Given the description of an element on the screen output the (x, y) to click on. 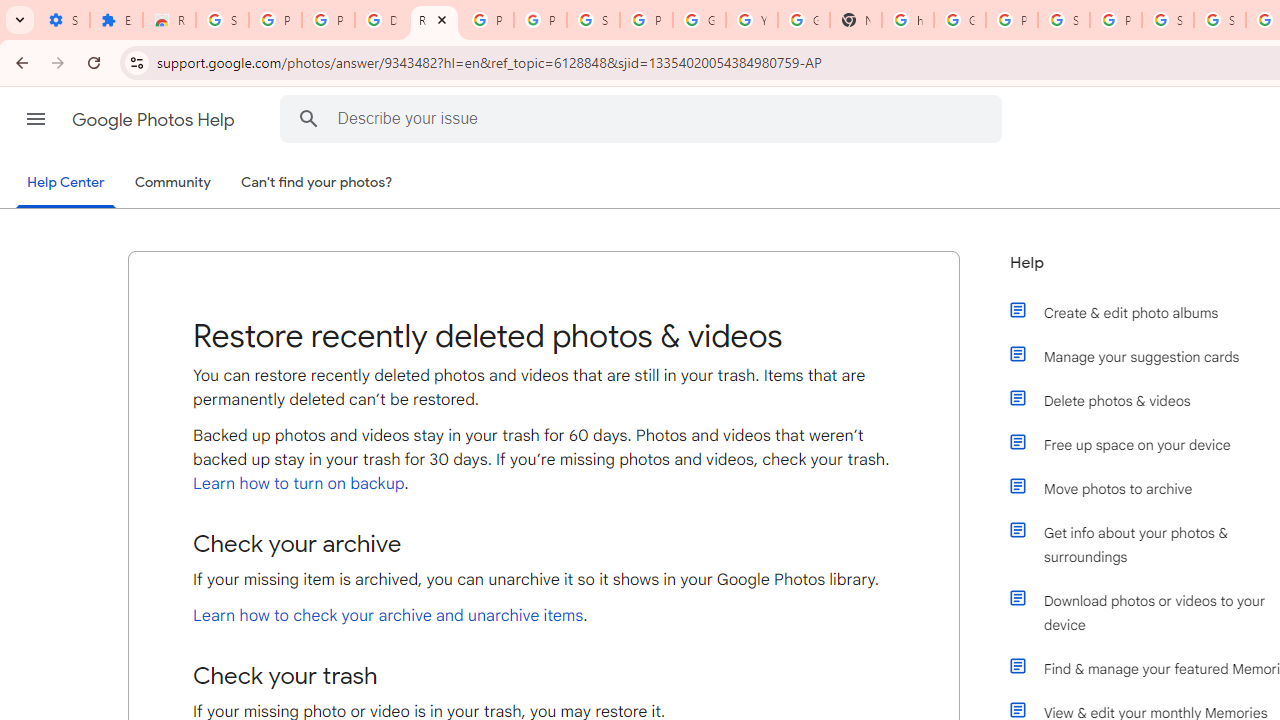
Settings - On startup (63, 20)
YouTube (751, 20)
https://scholar.google.com/ (907, 20)
System (10, 11)
Learn how to turn on backup (298, 483)
New Tab (855, 20)
Sign in - Google Accounts (593, 20)
Sign in - Google Accounts (1219, 20)
Search tabs (20, 20)
